Given the description of an element on the screen output the (x, y) to click on. 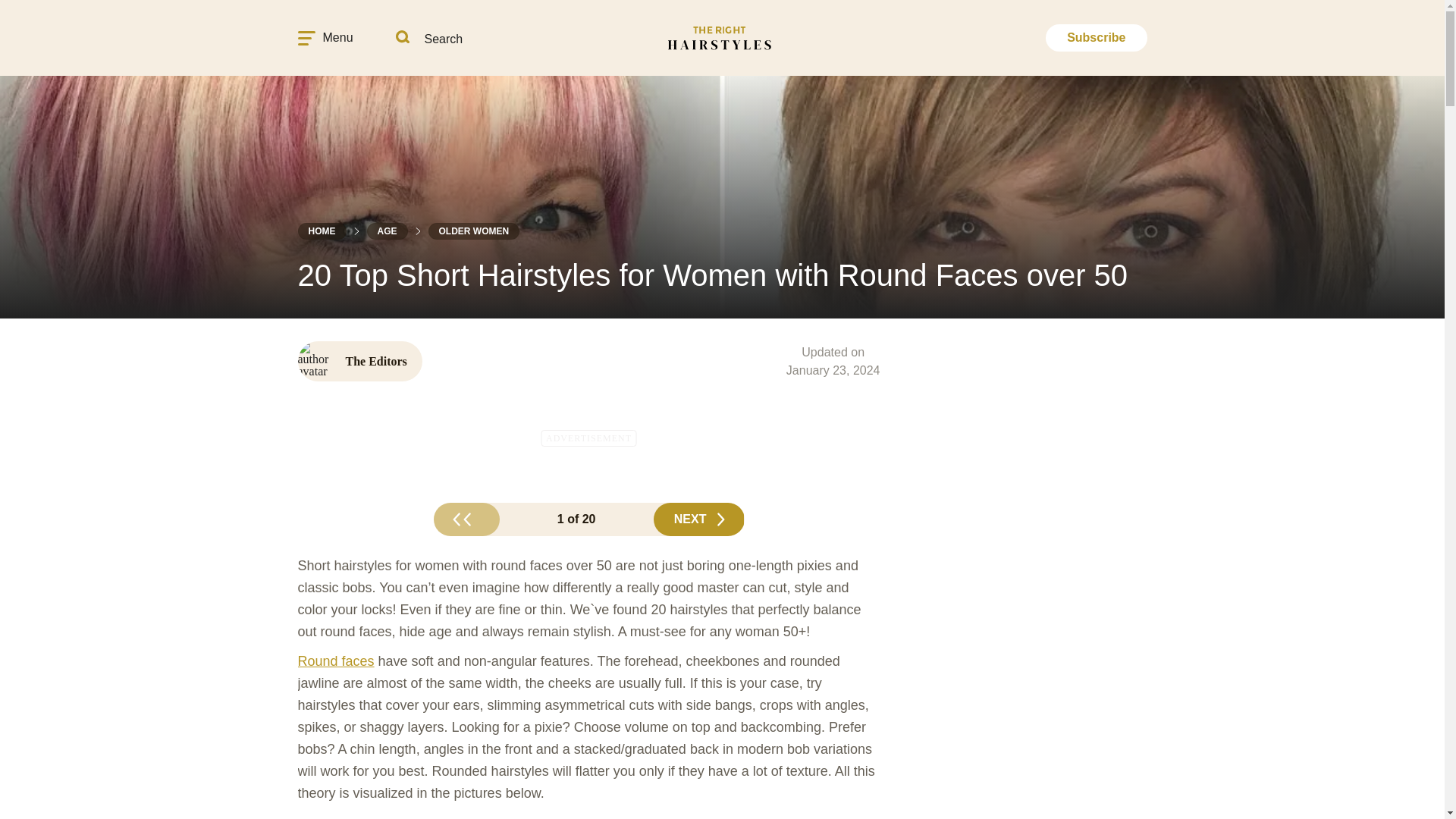
NEXT (698, 519)
Round faces (335, 661)
AGE (386, 230)
HOME (321, 230)
Subscribe (1096, 37)
OLDER WOMEN (473, 230)
